Given the description of an element on the screen output the (x, y) to click on. 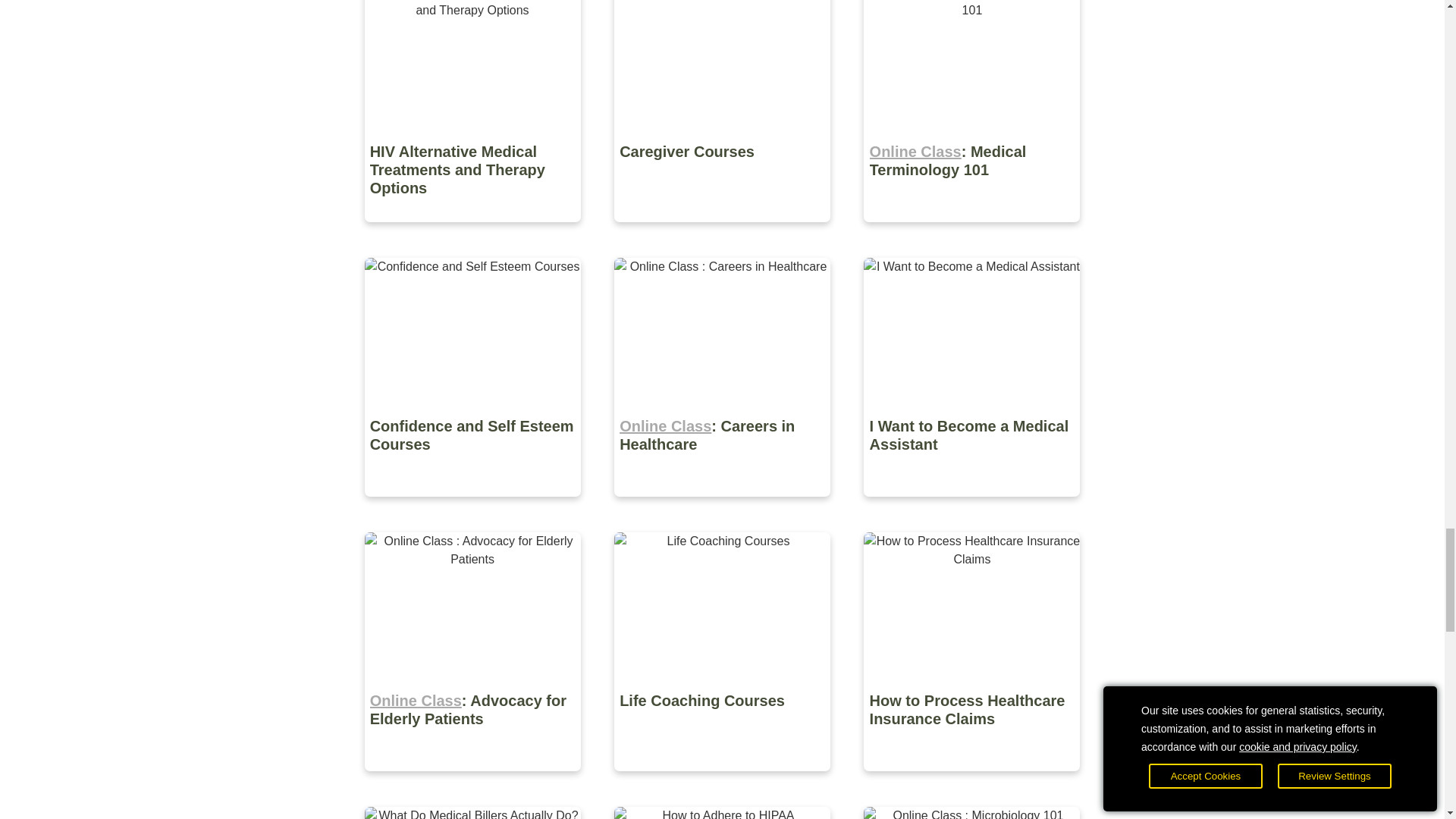
Confidence and Self Esteem Courses (473, 507)
Life Coaching Courses (723, 781)
Online Class: Medical Terminology 101 (971, 232)
Online Class: Careers in Healthcare (723, 507)
HIV Alternative Medical Treatments and Therapy Options (473, 232)
I Want to Become a Medical Assistant (971, 507)
How to Process Healthcare Insurance Claims (971, 781)
Caregiver Courses (723, 232)
Online Class: Advocacy for Elderly Patients (473, 781)
